Given the description of an element on the screen output the (x, y) to click on. 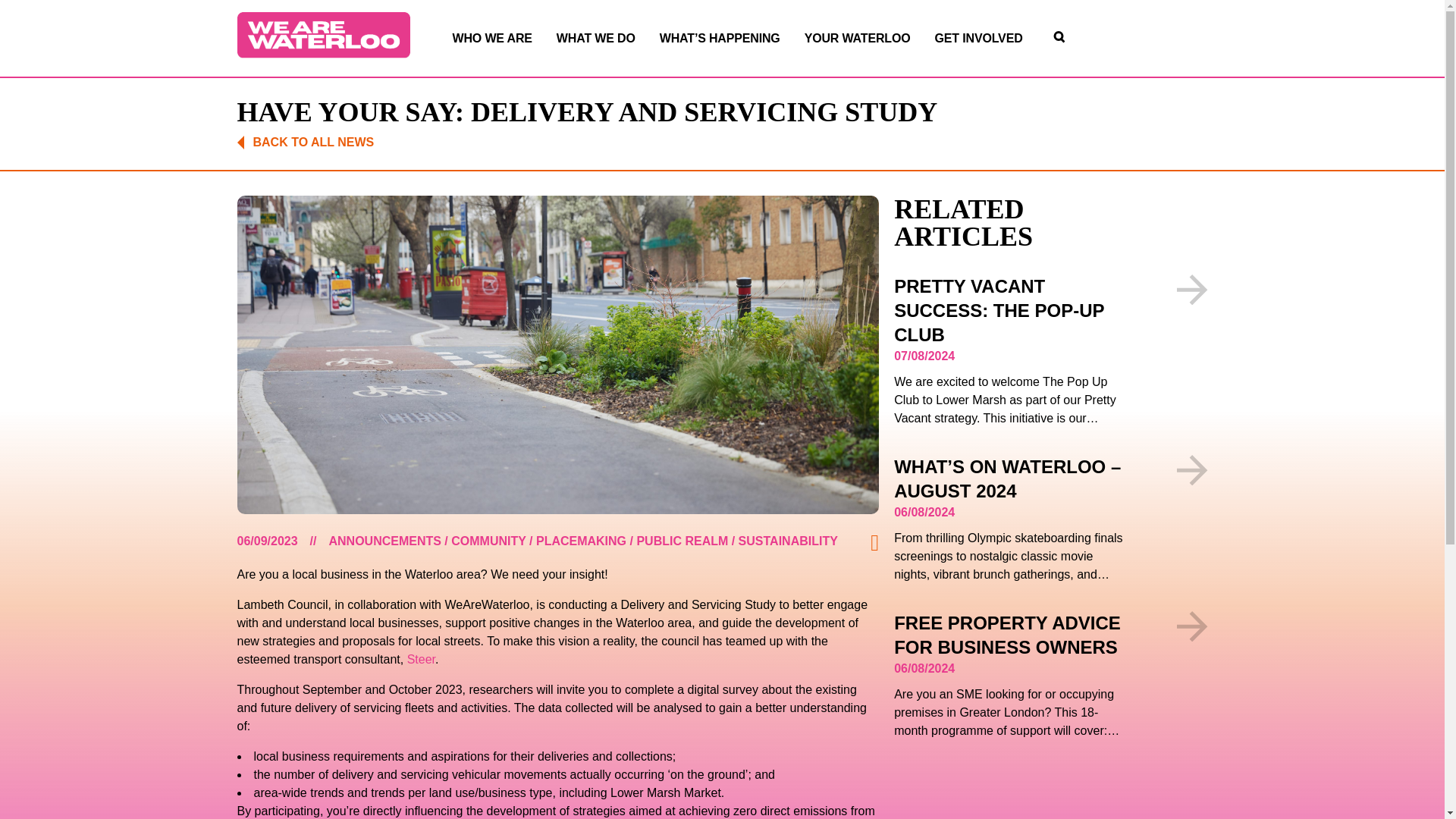
WHAT WE DO (595, 37)
GET INVOLVED (978, 37)
BACK TO ALL NEWS (304, 142)
WHO WE ARE (491, 37)
YOUR WATERLOO (858, 37)
Steer (421, 658)
